Given the description of an element on the screen output the (x, y) to click on. 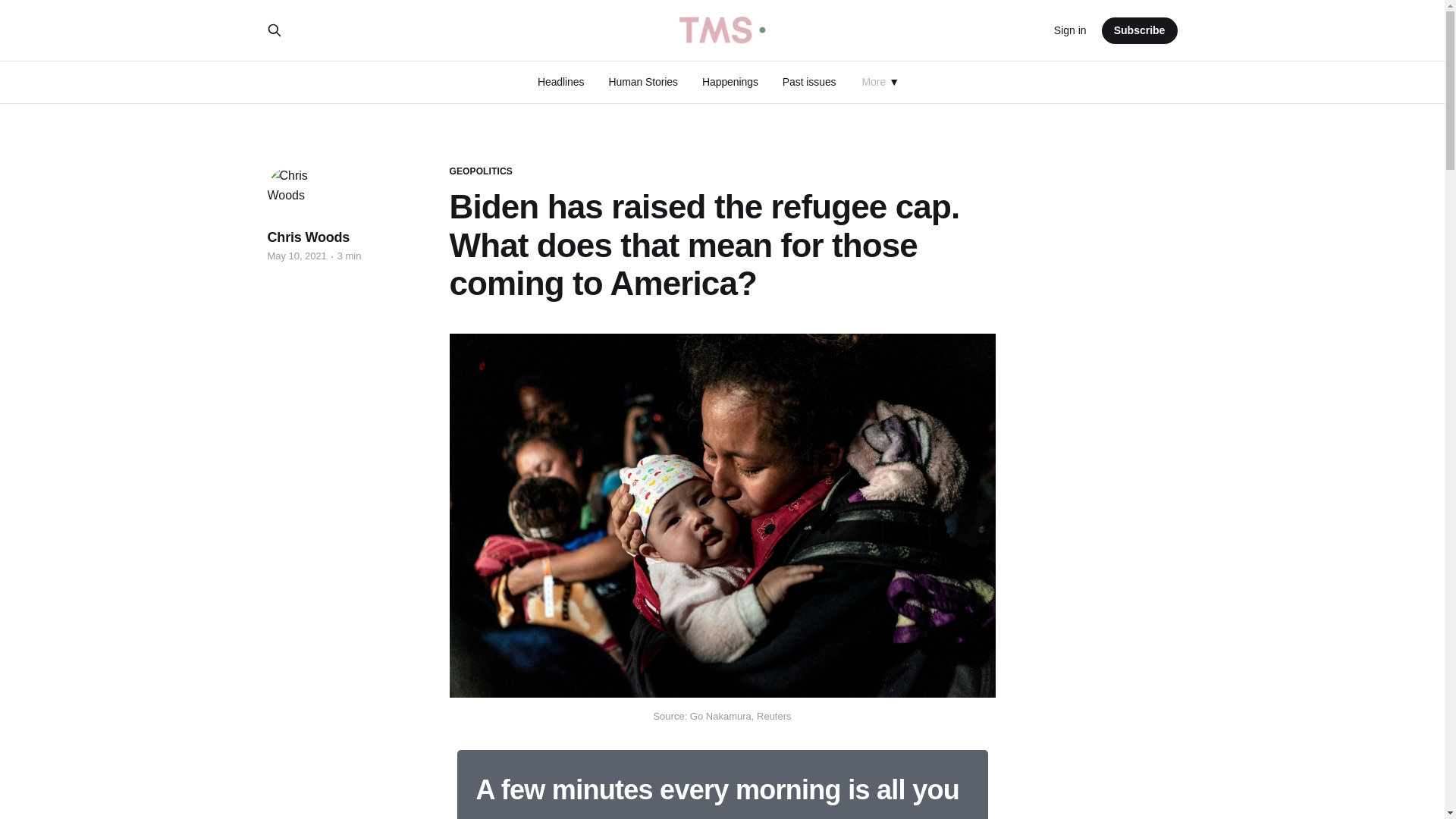
Human Stories (643, 81)
Past issues (809, 81)
Happenings (729, 81)
Headlines (561, 81)
